Given the description of an element on the screen output the (x, y) to click on. 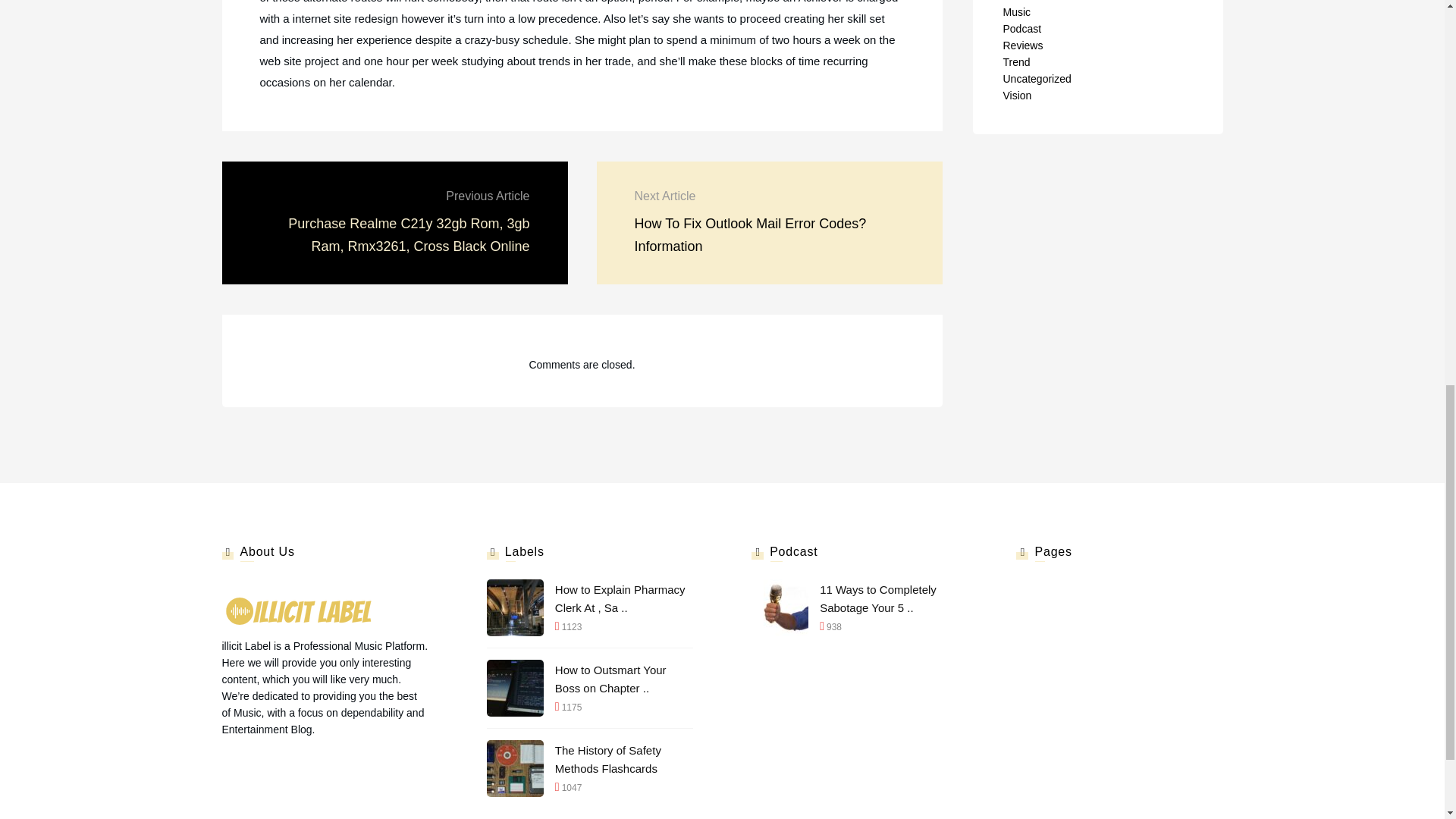
Labels (1018, 0)
How To Fix Outlook Mail Error Codes? Information (749, 234)
Music (1016, 11)
